Given the description of an element on the screen output the (x, y) to click on. 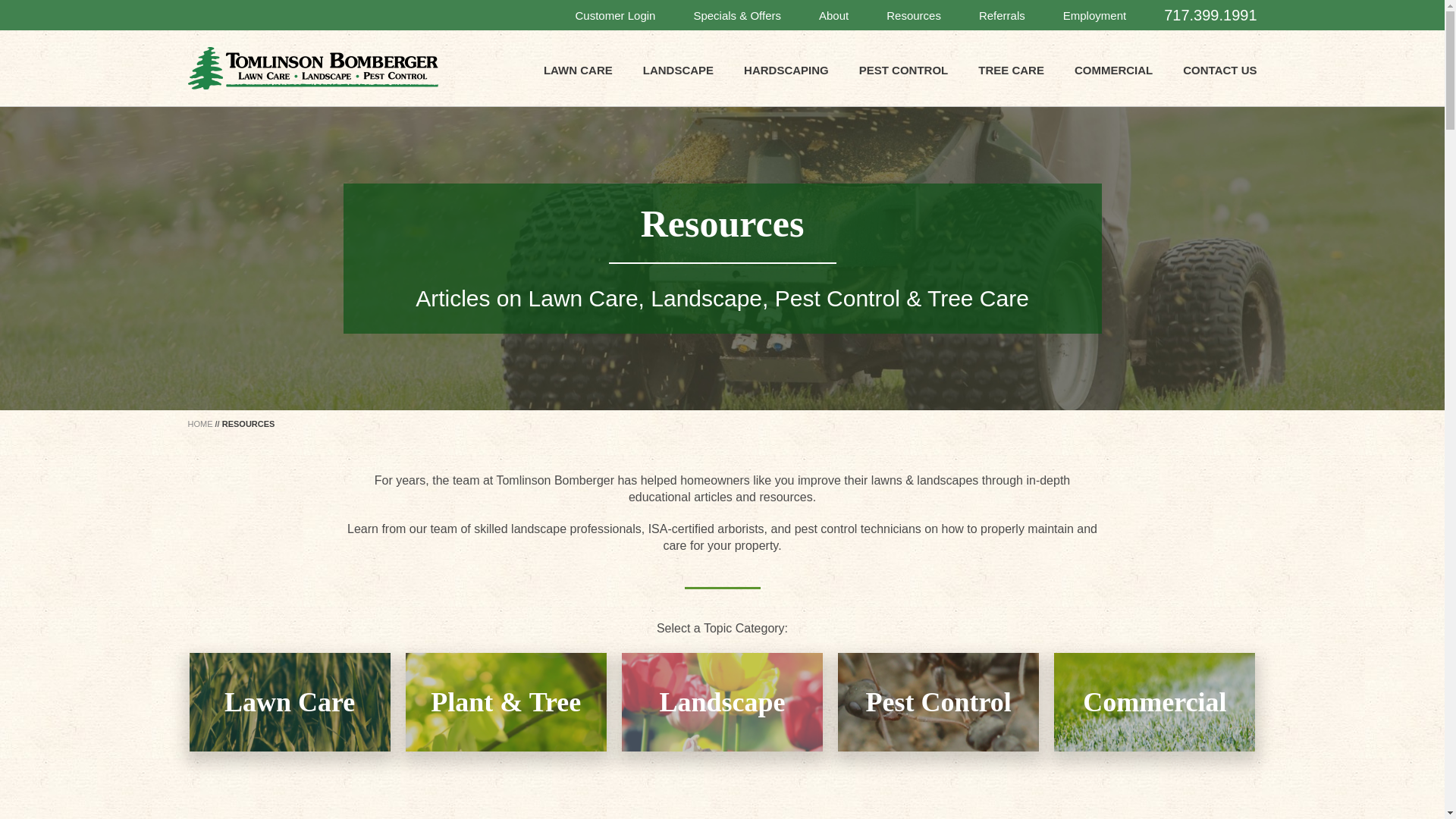
Lawn Care (289, 701)
LAWN CARE (577, 69)
TREE CARE (1010, 69)
717.399.1991 (1209, 14)
About (833, 15)
Referrals (1001, 14)
CONTACT US (1219, 69)
Employment (1093, 15)
HARDSCAPING (786, 69)
HOME (199, 423)
